Given the description of an element on the screen output the (x, y) to click on. 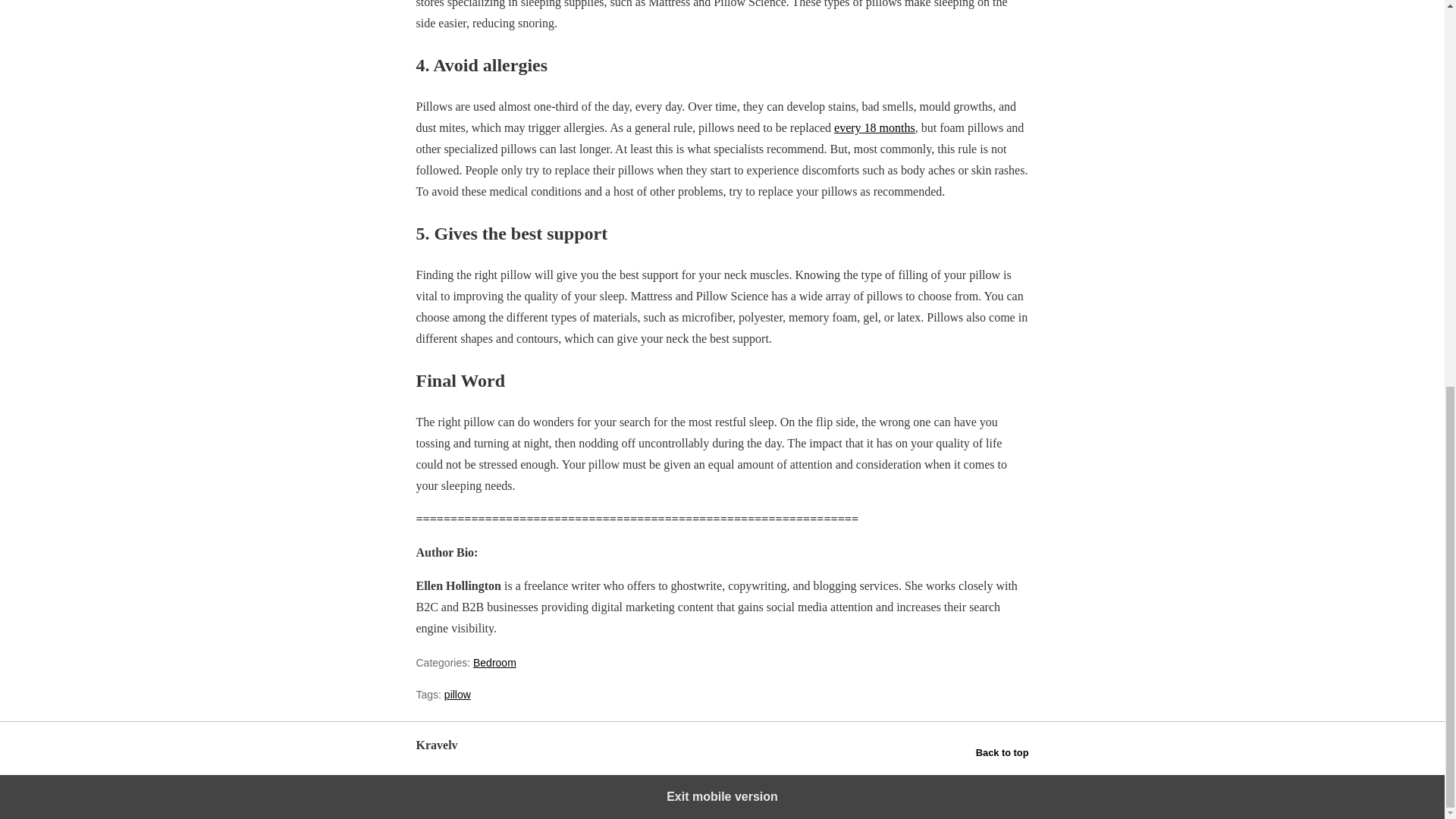
every 18 months (874, 127)
Back to top (1002, 752)
Bedroom (494, 662)
pillow (457, 694)
